Given the description of an element on the screen output the (x, y) to click on. 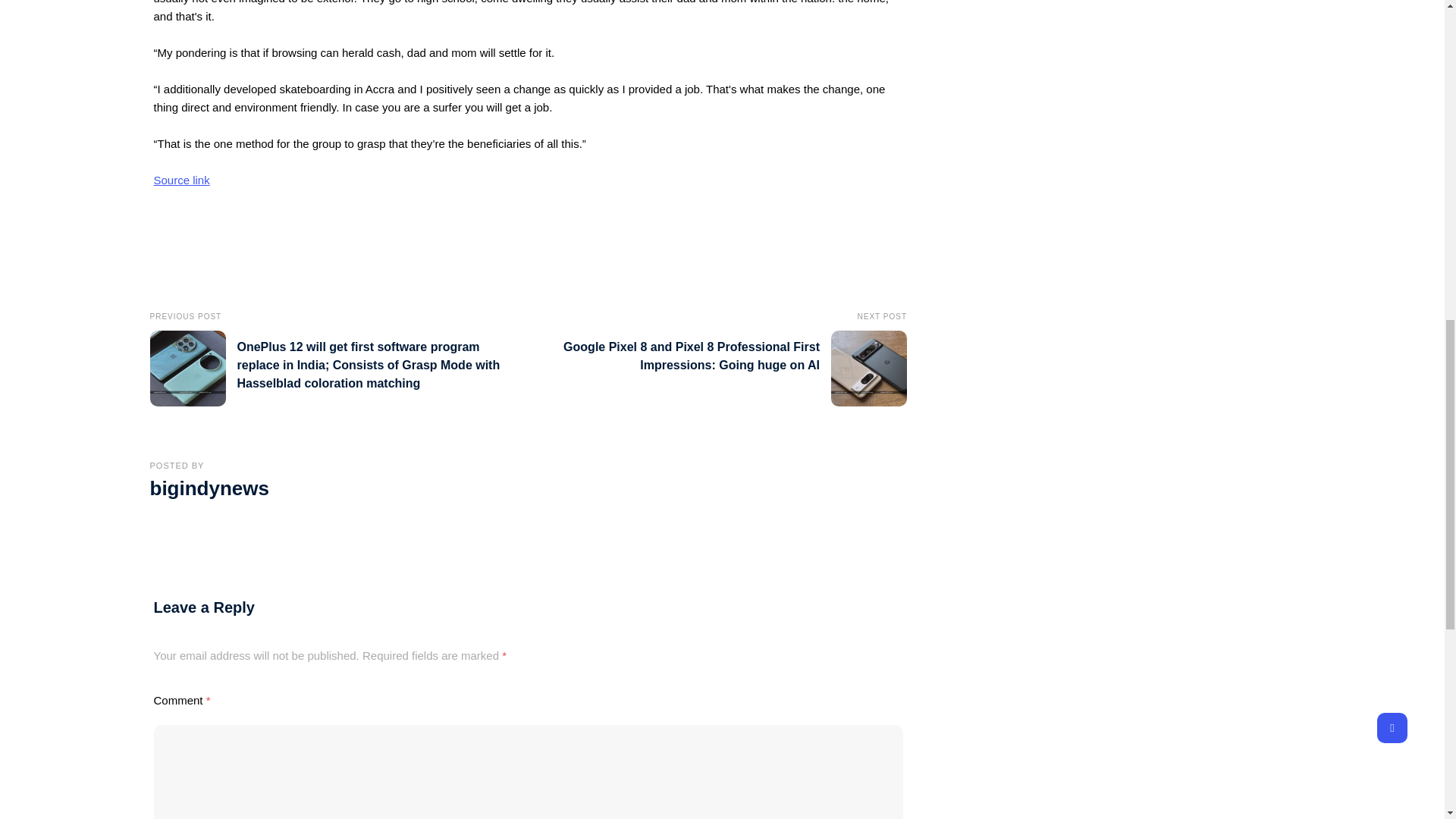
bigindynews (209, 487)
Source link (180, 179)
